Given the description of an element on the screen output the (x, y) to click on. 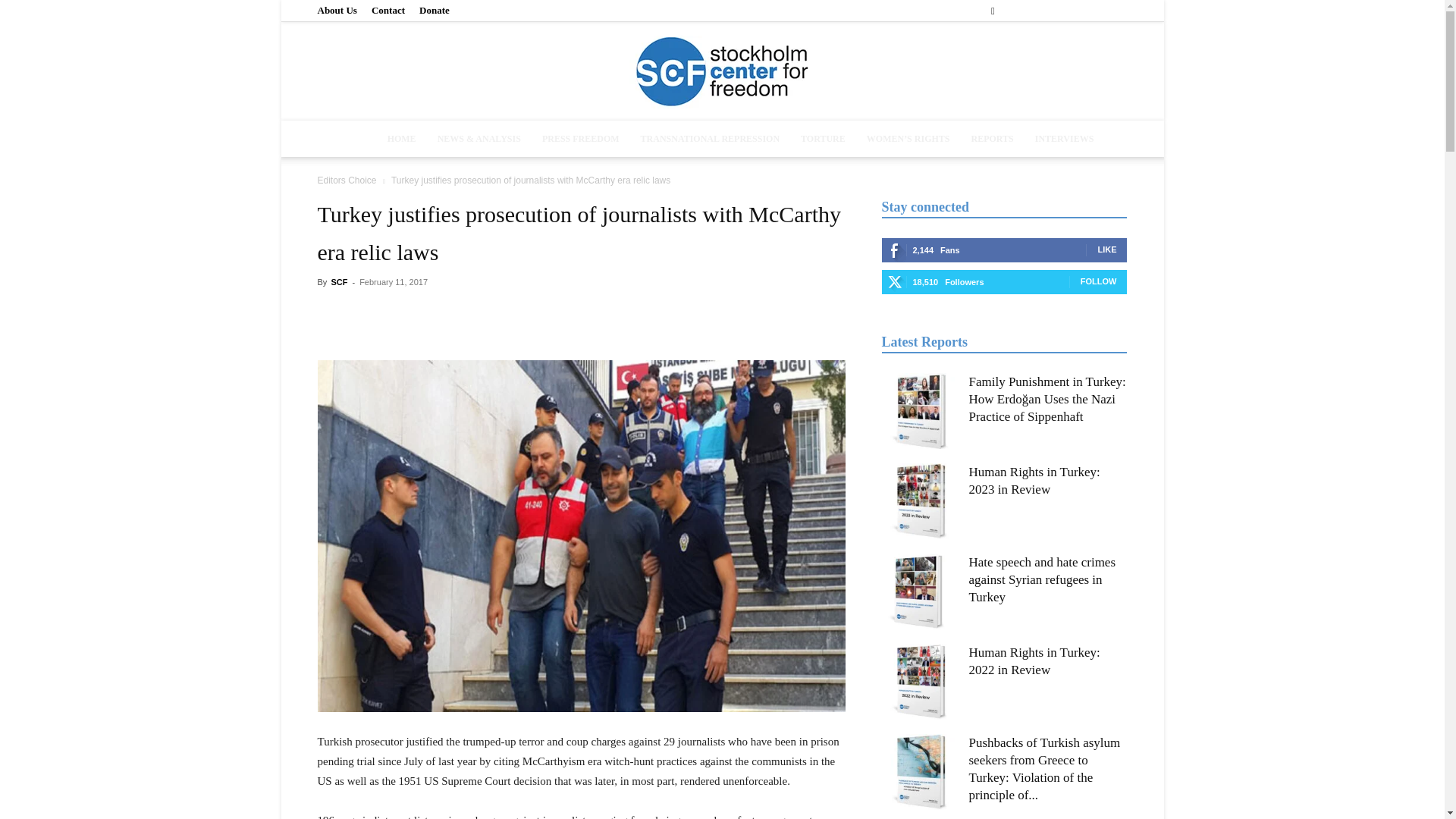
Editors Choice (346, 180)
INTERVIEWS (1065, 138)
View all posts in Editors Choice (346, 180)
HOME (401, 138)
TRANSNATIONAL REPRESSION (710, 138)
PRESS FREEDOM (580, 138)
Youtube (1114, 10)
Stockholm Center for Freedom (722, 72)
Donate (434, 9)
Linkedin (1065, 10)
Flipboard (1040, 10)
REPORTS (991, 138)
About Us (336, 9)
Facebook (1015, 10)
Contact (387, 9)
